Given the description of an element on the screen output the (x, y) to click on. 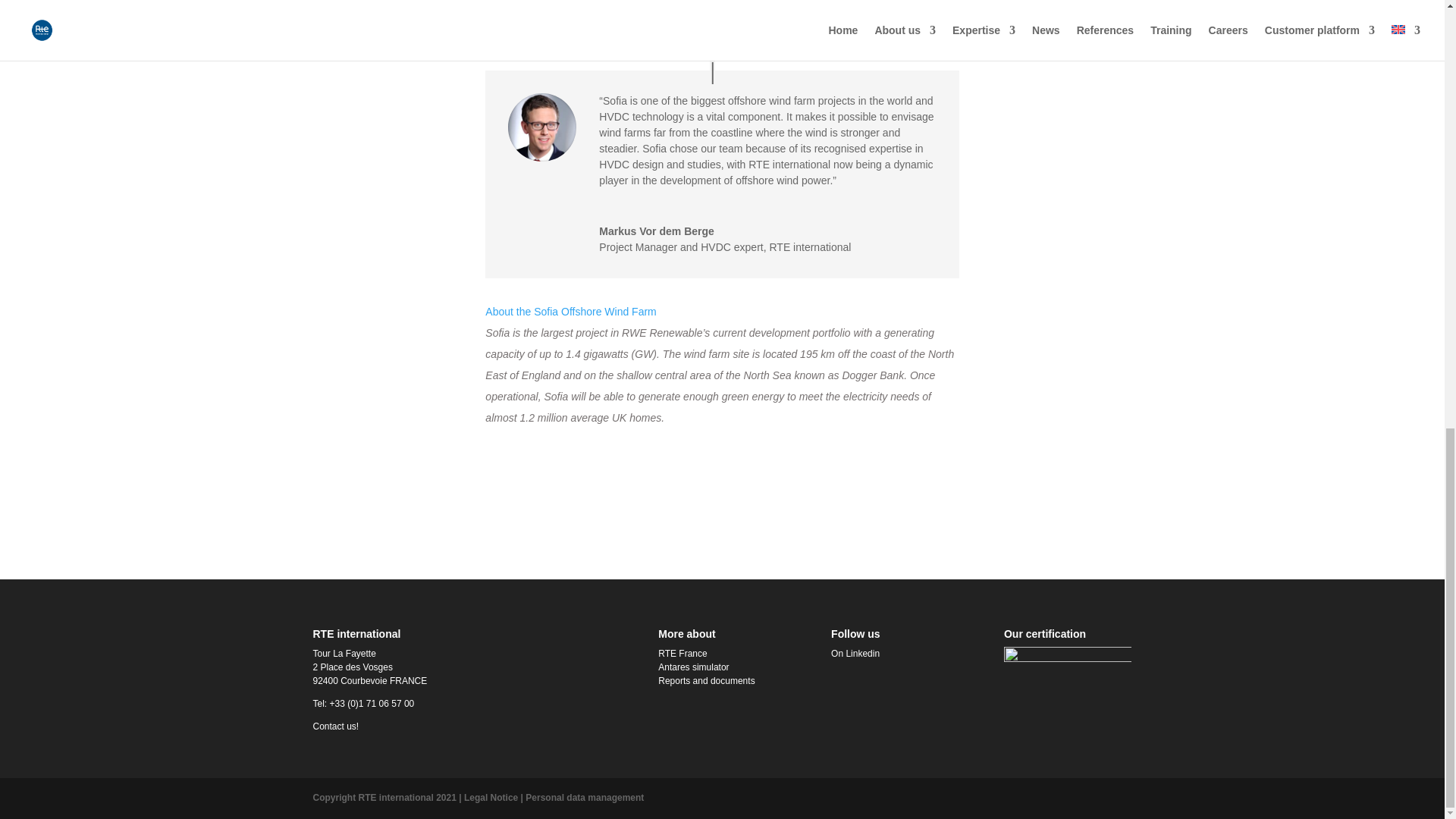
Contact (335, 726)
